Given the description of an element on the screen output the (x, y) to click on. 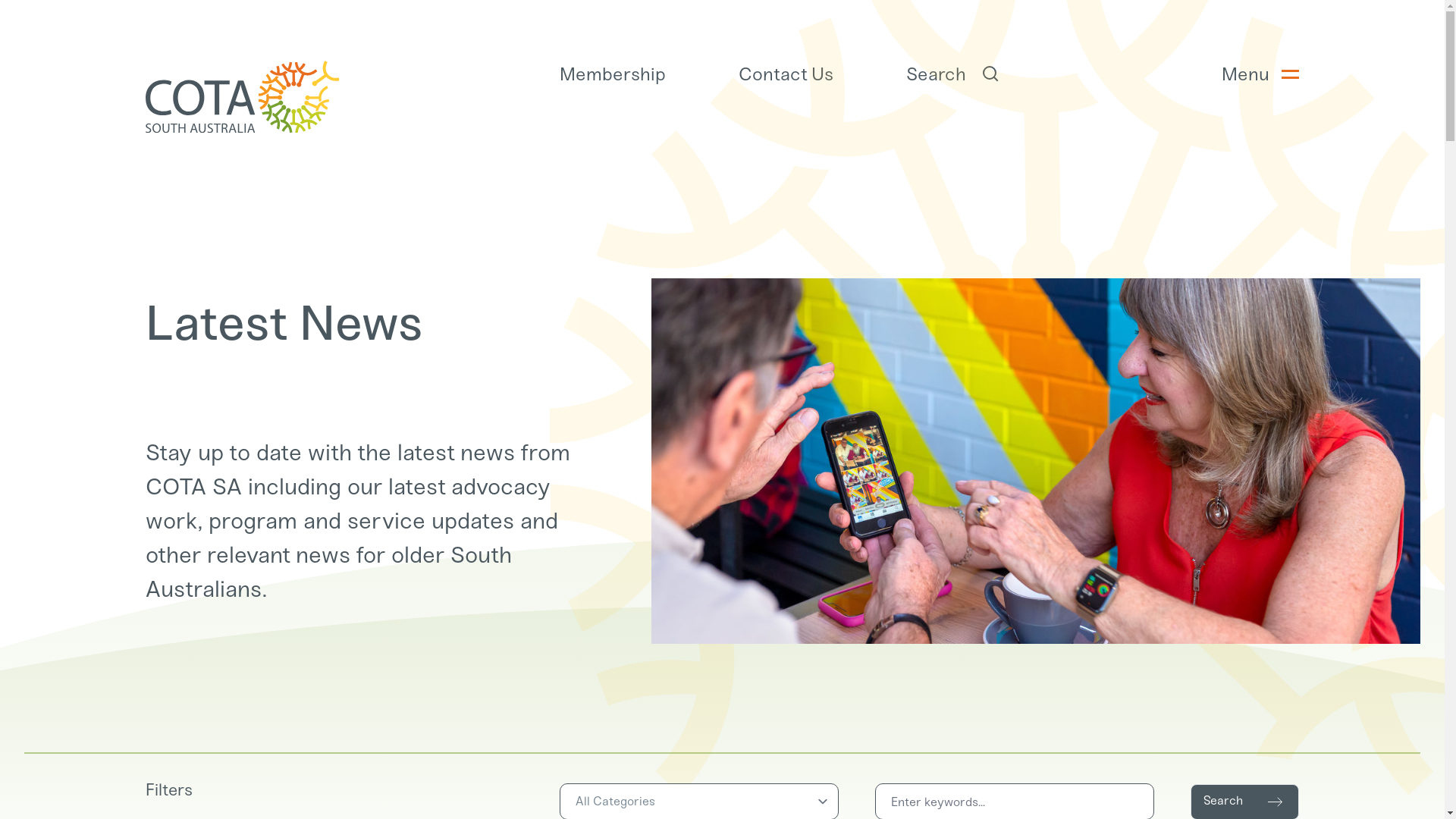
Search Element type: text (953, 73)
Menu Element type: text (1260, 73)
Contact Us Element type: text (785, 73)
Membership Element type: text (612, 73)
